Given the description of an element on the screen output the (x, y) to click on. 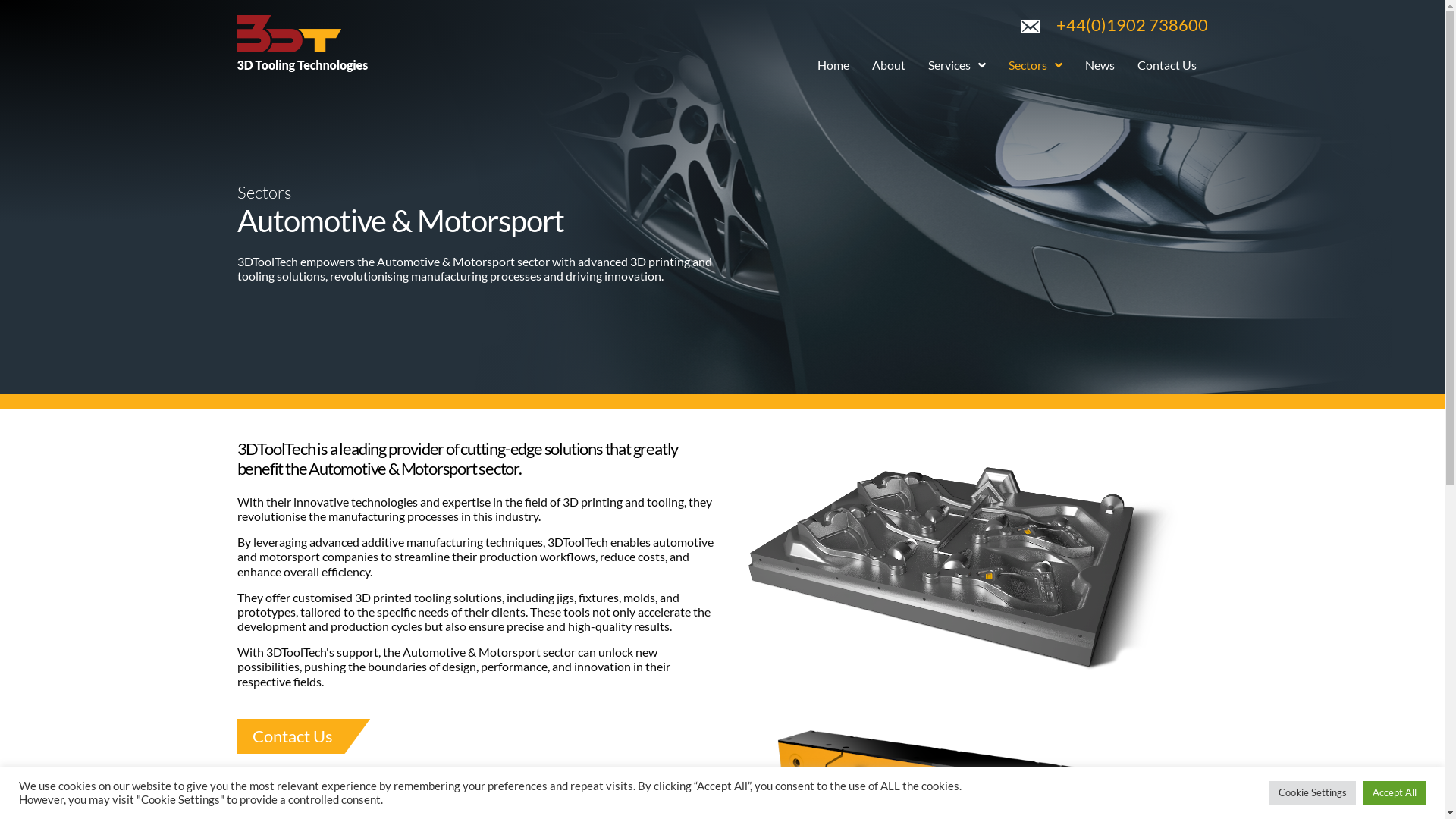
+44(0)1902 738600 Element type: text (1131, 24)
Home Element type: text (838, 64)
News Element type: text (1099, 64)
Accept All Element type: text (1394, 792)
Sectors Element type: text (1034, 64)
Services Element type: text (956, 64)
Contact Us Element type: text (1166, 64)
About Element type: text (887, 64)
Contact Us Element type: text (303, 735)
Cookie Settings Element type: text (1312, 792)
2428549 Tool Pressure Asm Element type: hover (968, 567)
Brand Element type: hover (301, 43)
